Given the description of an element on the screen output the (x, y) to click on. 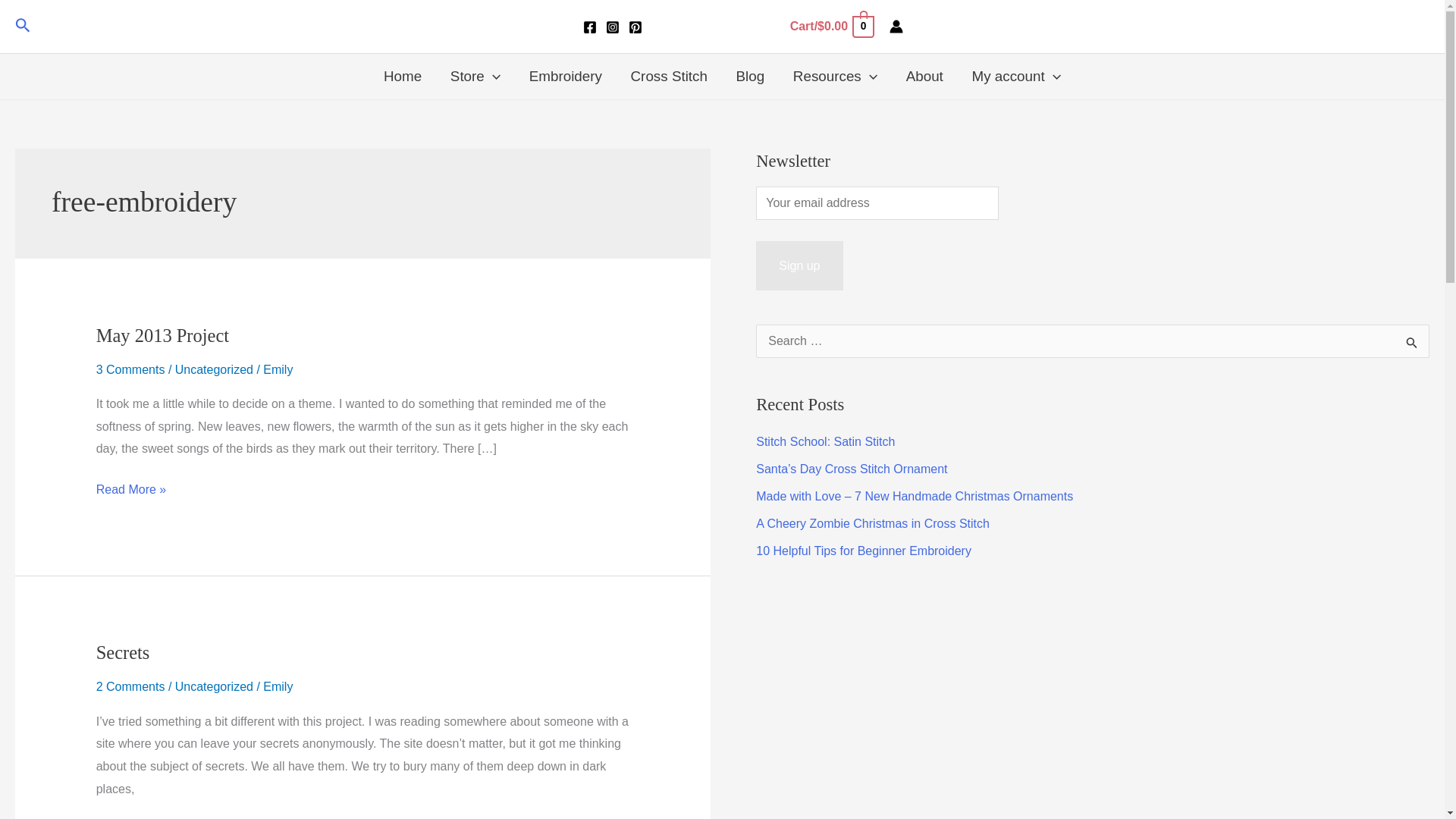
View all posts by Emily (277, 369)
Cross Stitch (668, 76)
My account (1016, 76)
About (924, 76)
View all posts by Emily (277, 686)
Home (402, 76)
Resources (834, 76)
Embroidery (565, 76)
Blog (750, 76)
Sign up (799, 265)
